Given the description of an element on the screen output the (x, y) to click on. 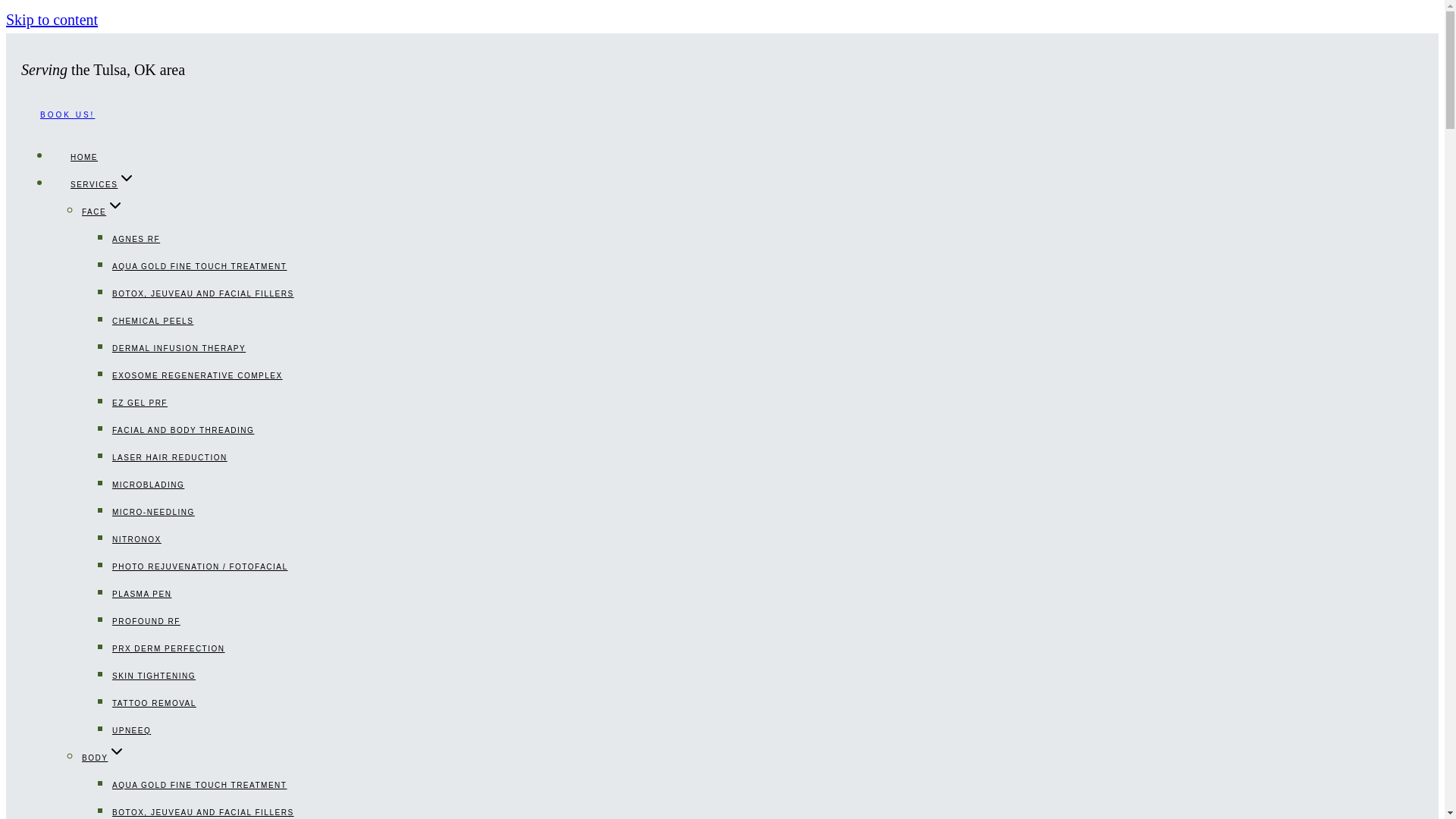
EZ GEL PRF (139, 402)
EXPAND (116, 751)
MICROBLADING (148, 484)
BOTOX, JEUVEAU AND FACIAL FILLERS (203, 809)
TATTOO REMOVAL (154, 702)
HOME (83, 157)
BOTOX, JEUVEAU AND FACIAL FILLERS (203, 293)
MICRO-NEEDLING (153, 512)
PROFOUND RF (146, 621)
FACIAL AND BODY THREADING (182, 430)
DERMAL INFUSION THERAPY (179, 348)
AQUA GOLD FINE TOUCH TREATMENT (199, 266)
AGNES RF (136, 238)
BODYEXPAND (103, 757)
PRX DERM PERFECTION (168, 648)
